Given the description of an element on the screen output the (x, y) to click on. 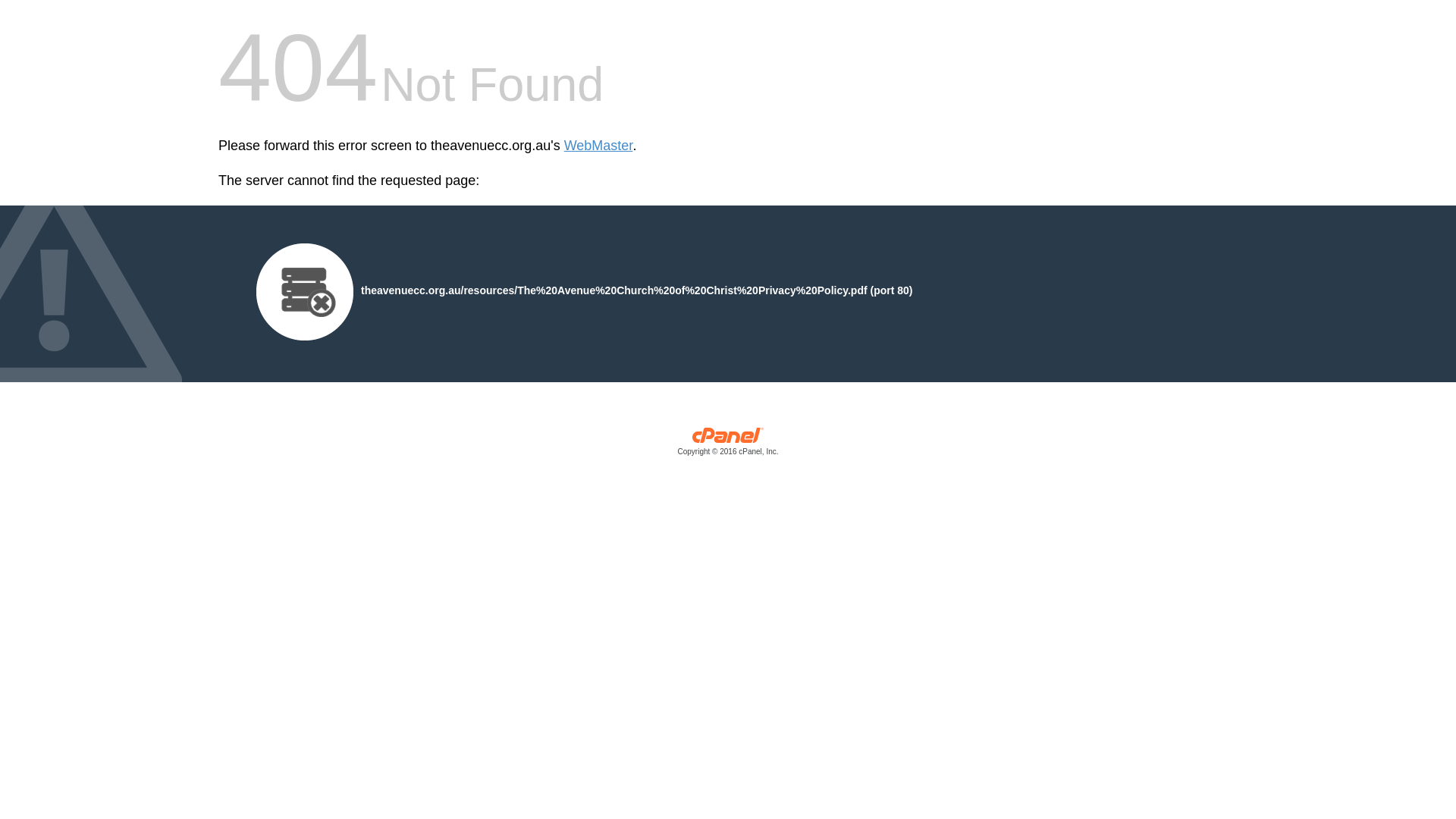
WebMaster Element type: text (598, 145)
